Given the description of an element on the screen output the (x, y) to click on. 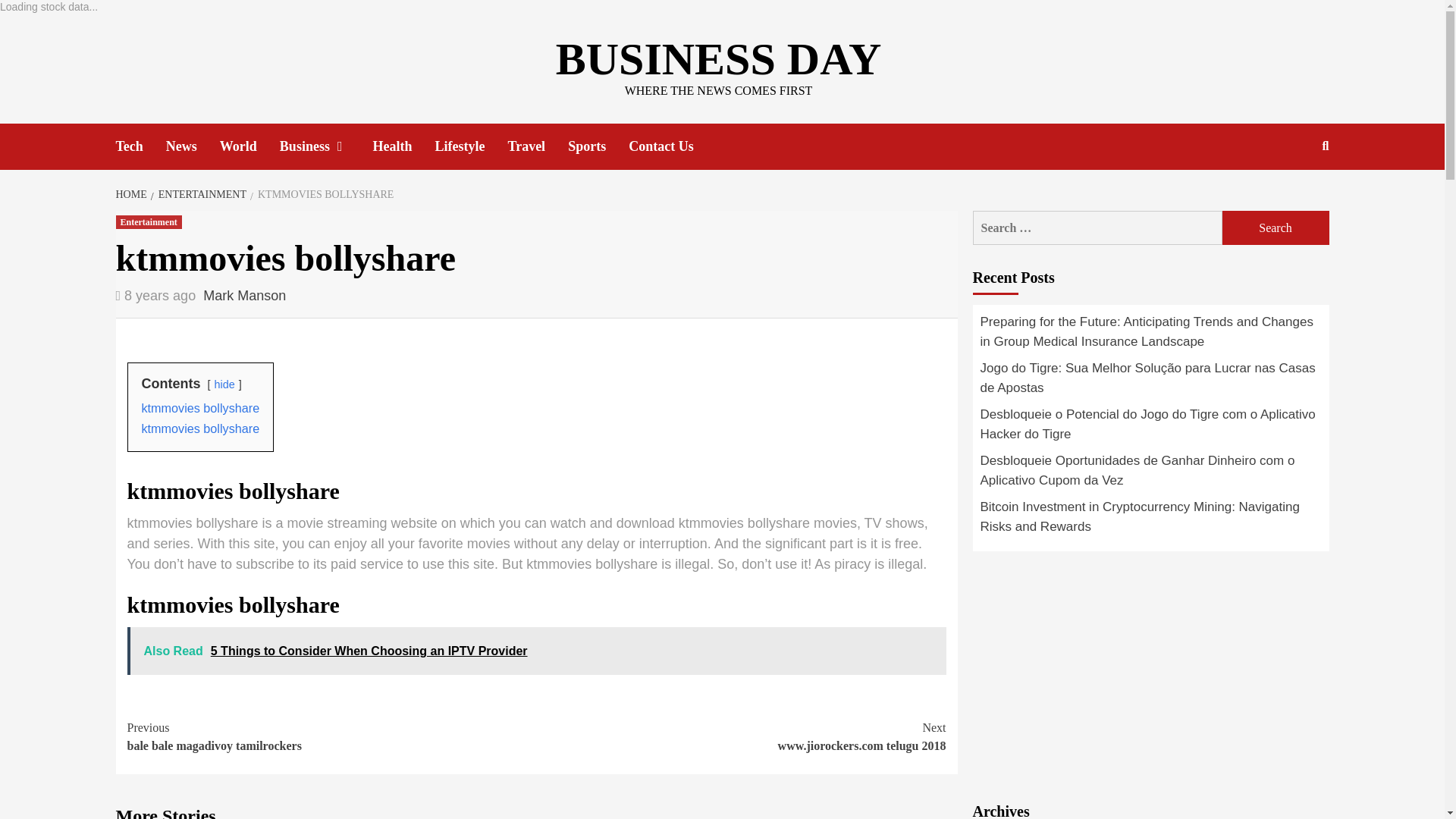
ktmmovies bollyshare (200, 427)
HOME (132, 194)
World (249, 146)
News (192, 146)
Health (402, 146)
Contact Us (672, 146)
Entertainment (147, 222)
Search (1276, 227)
ktmmovies bollyshare (200, 407)
Sports (597, 146)
